Given the description of an element on the screen output the (x, y) to click on. 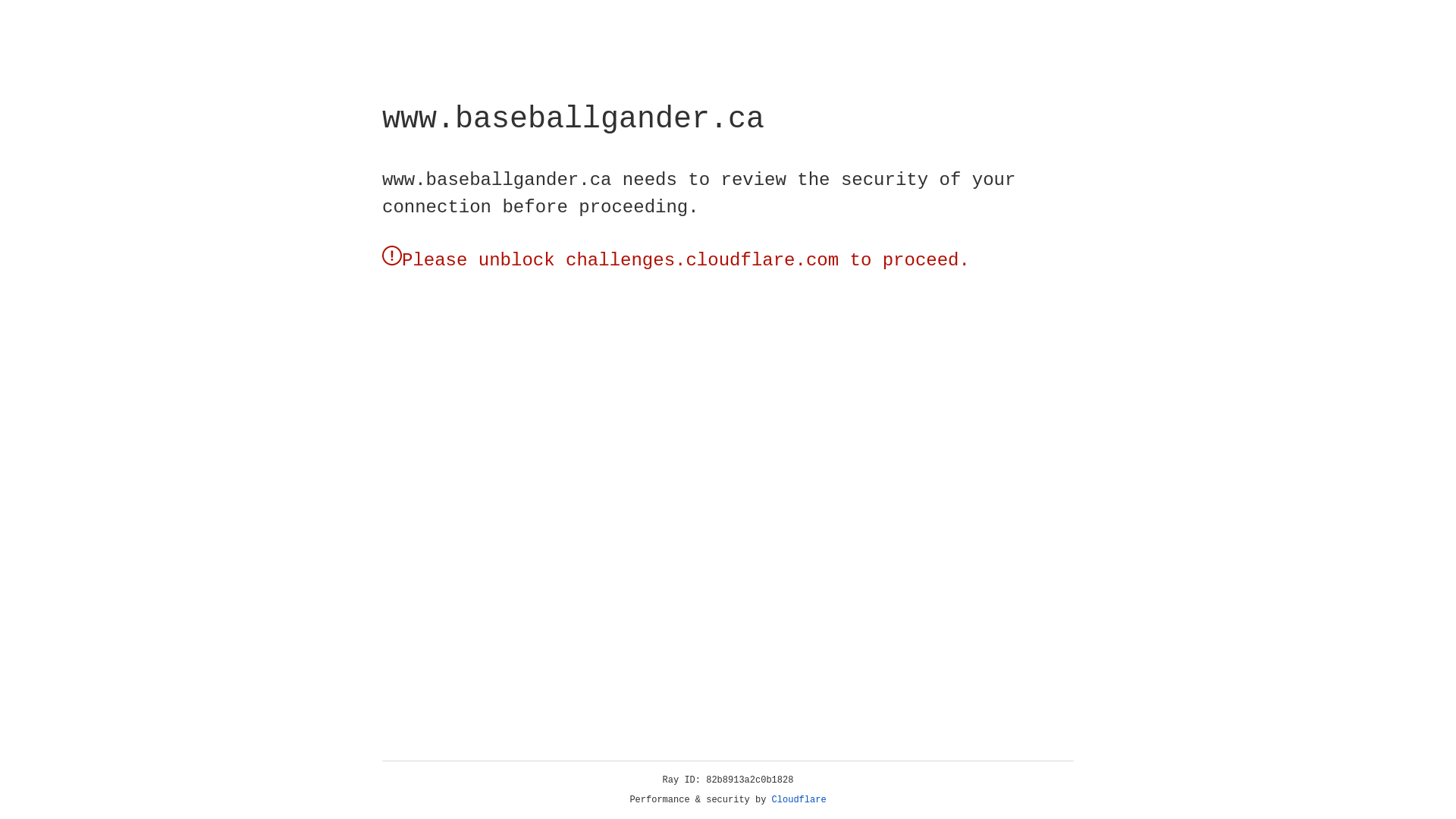
Cloudflare Element type: text (798, 799)
